Given the description of an element on the screen output the (x, y) to click on. 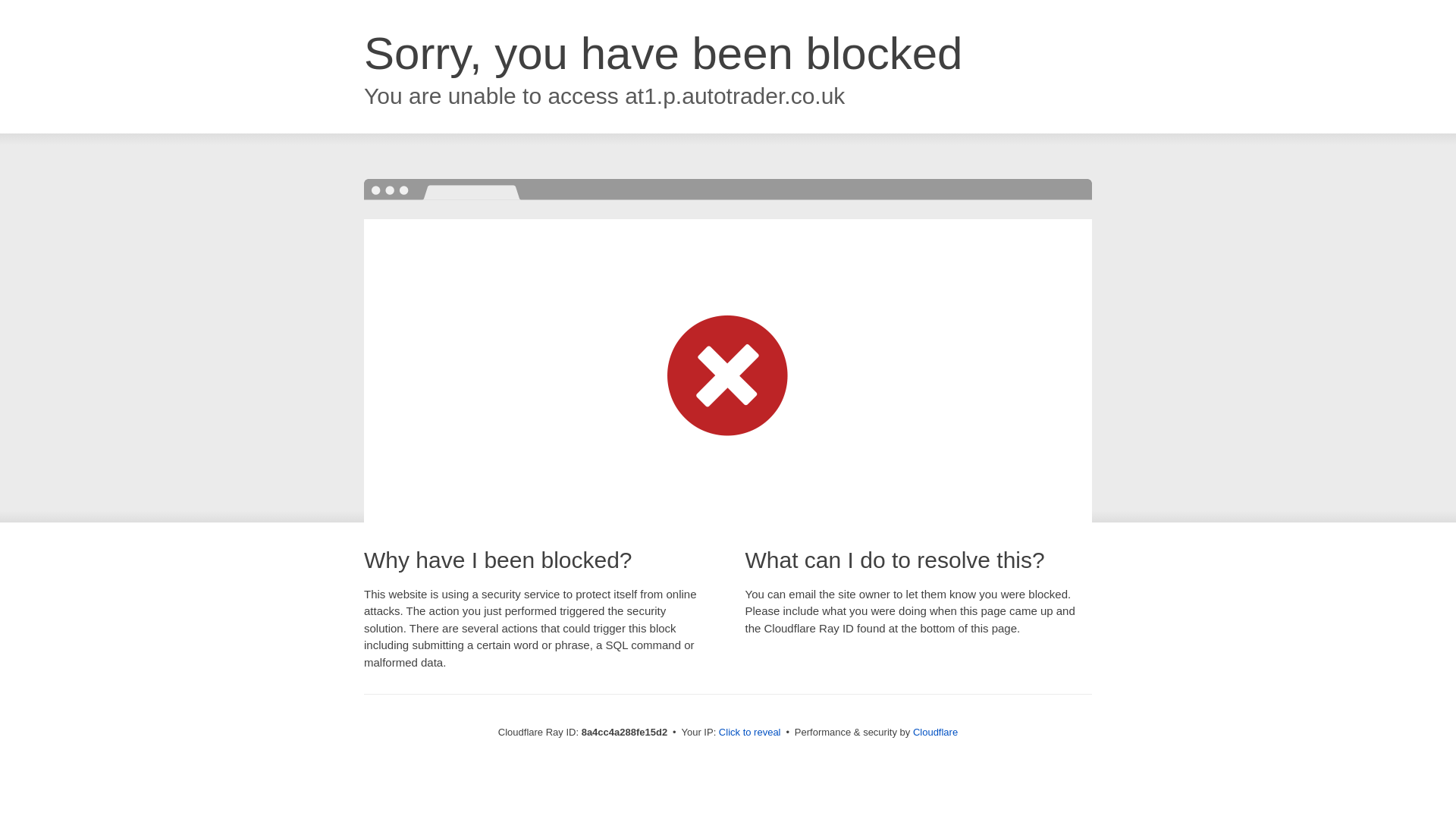
Cloudflare (935, 731)
Click to reveal (749, 732)
